Given the description of an element on the screen output the (x, y) to click on. 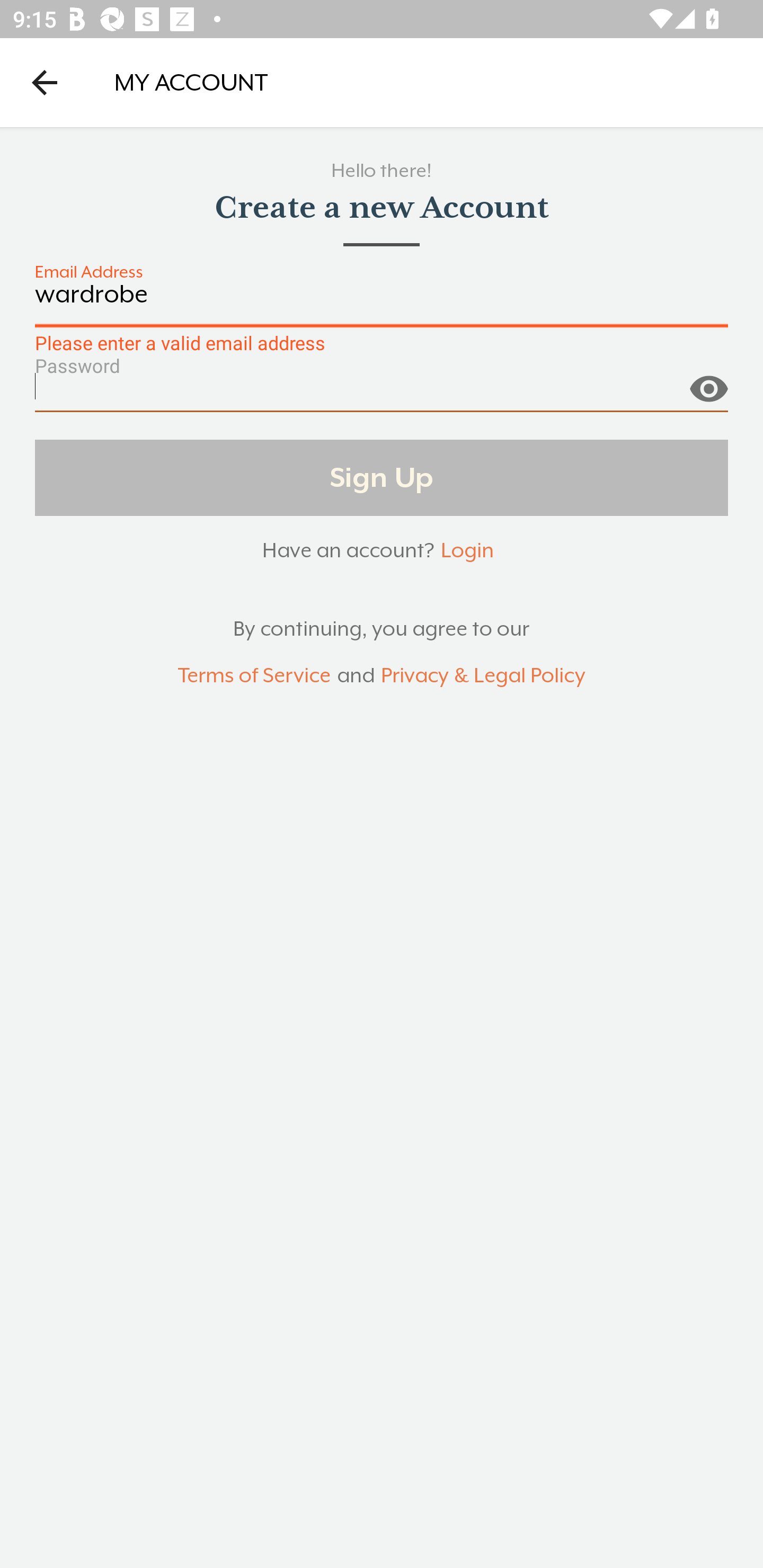
Navigate up (44, 82)
wardrobe (381, 304)
 (708, 381)
Password (381, 393)
Sign Up (381, 477)
Login (467, 550)
Terms of Service (253, 675)
Privacy & Legal Policy (483, 675)
